Given the description of an element on the screen output the (x, y) to click on. 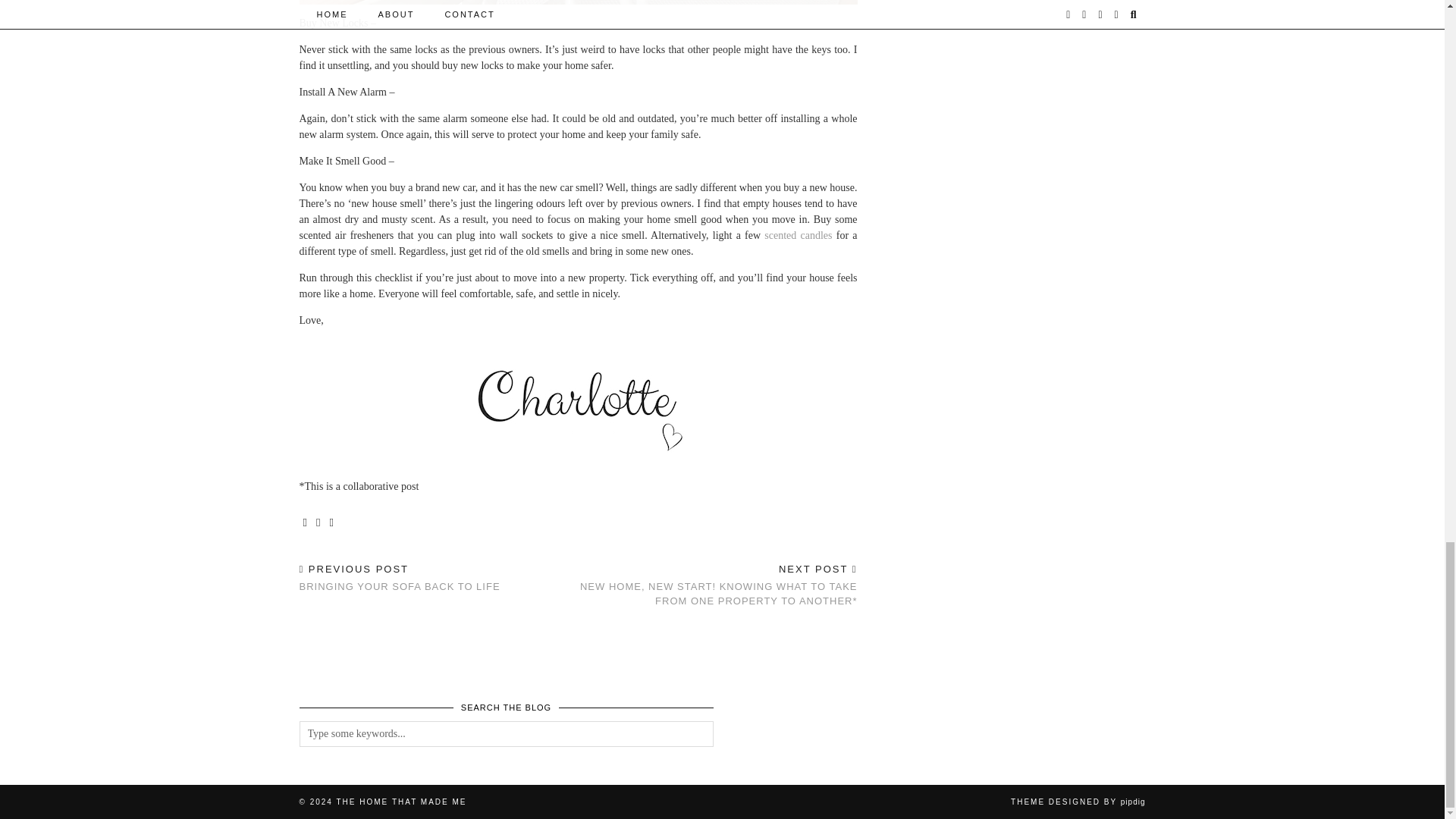
scented candles (797, 235)
Share on Facebook (304, 522)
